Given the description of an element on the screen output the (x, y) to click on. 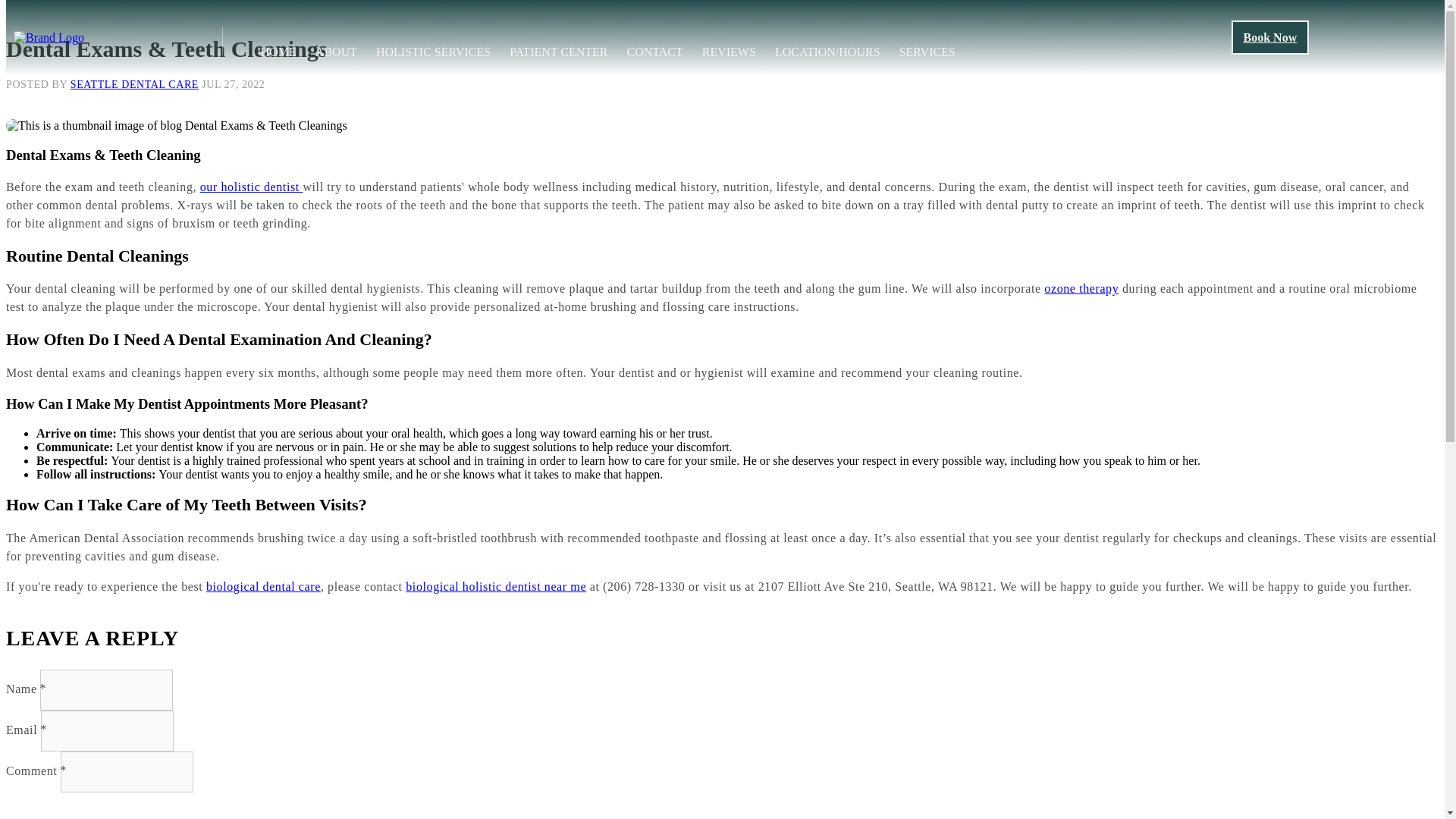
Book Now (1269, 37)
Brand Logo (48, 38)
ABOUT (335, 51)
SERVICES (927, 51)
HOME (278, 51)
PATIENT CENTER (558, 51)
REVIEWS (728, 51)
HOLISTIC SERVICES (432, 51)
CONTACT (654, 51)
